Given the description of an element on the screen output the (x, y) to click on. 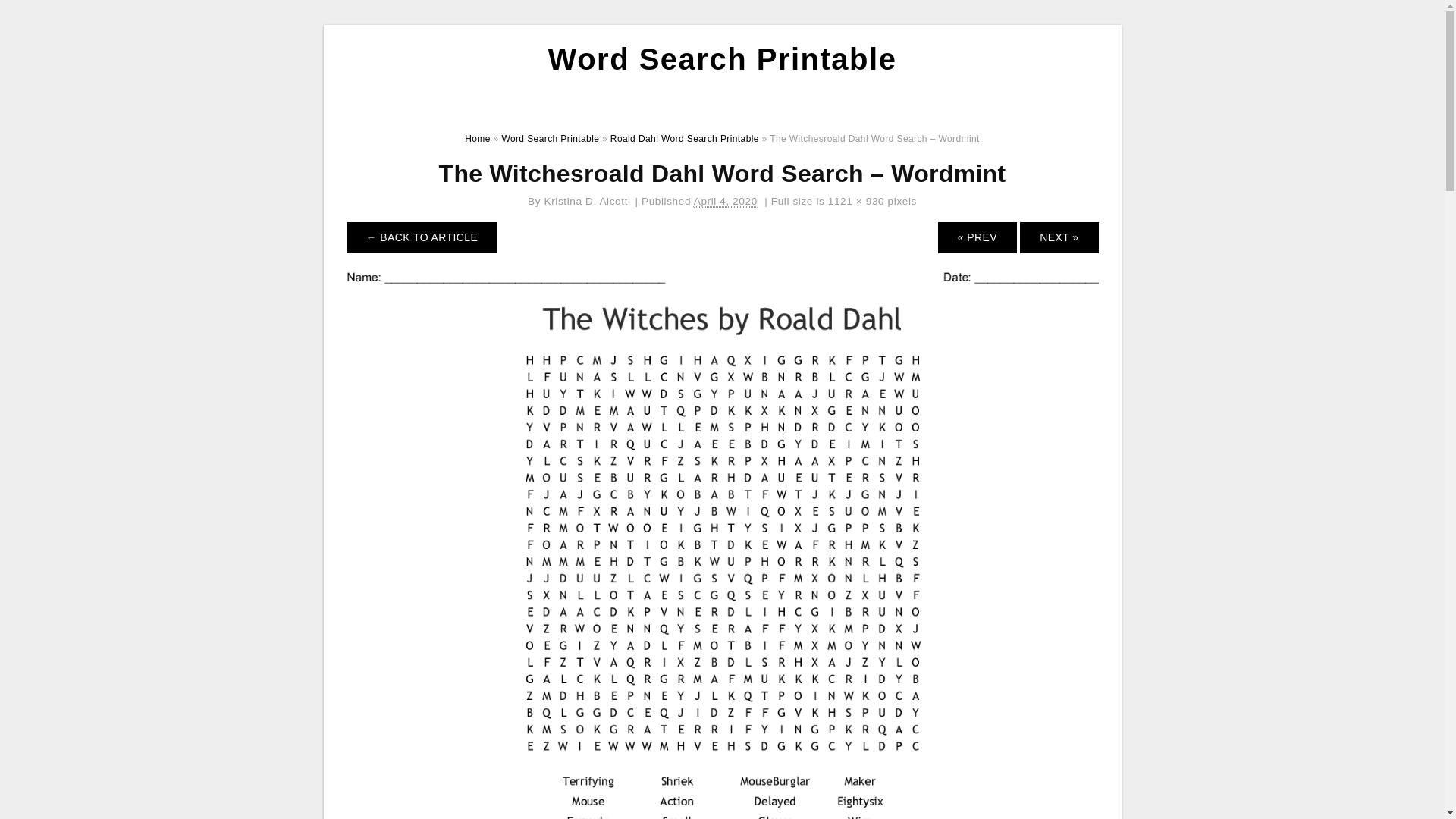
Word Search Printable (722, 59)
Home (477, 138)
Link to full-size image (855, 201)
View all posts by Kristina D. Alcott (586, 201)
11:37 pm (725, 201)
Return to Roald Dahl Word Search Printable (421, 237)
Word Search Printable (549, 138)
Kristina D. Alcott (586, 201)
Roald Dahl Word Search Printable (684, 138)
